Given the description of an element on the screen output the (x, y) to click on. 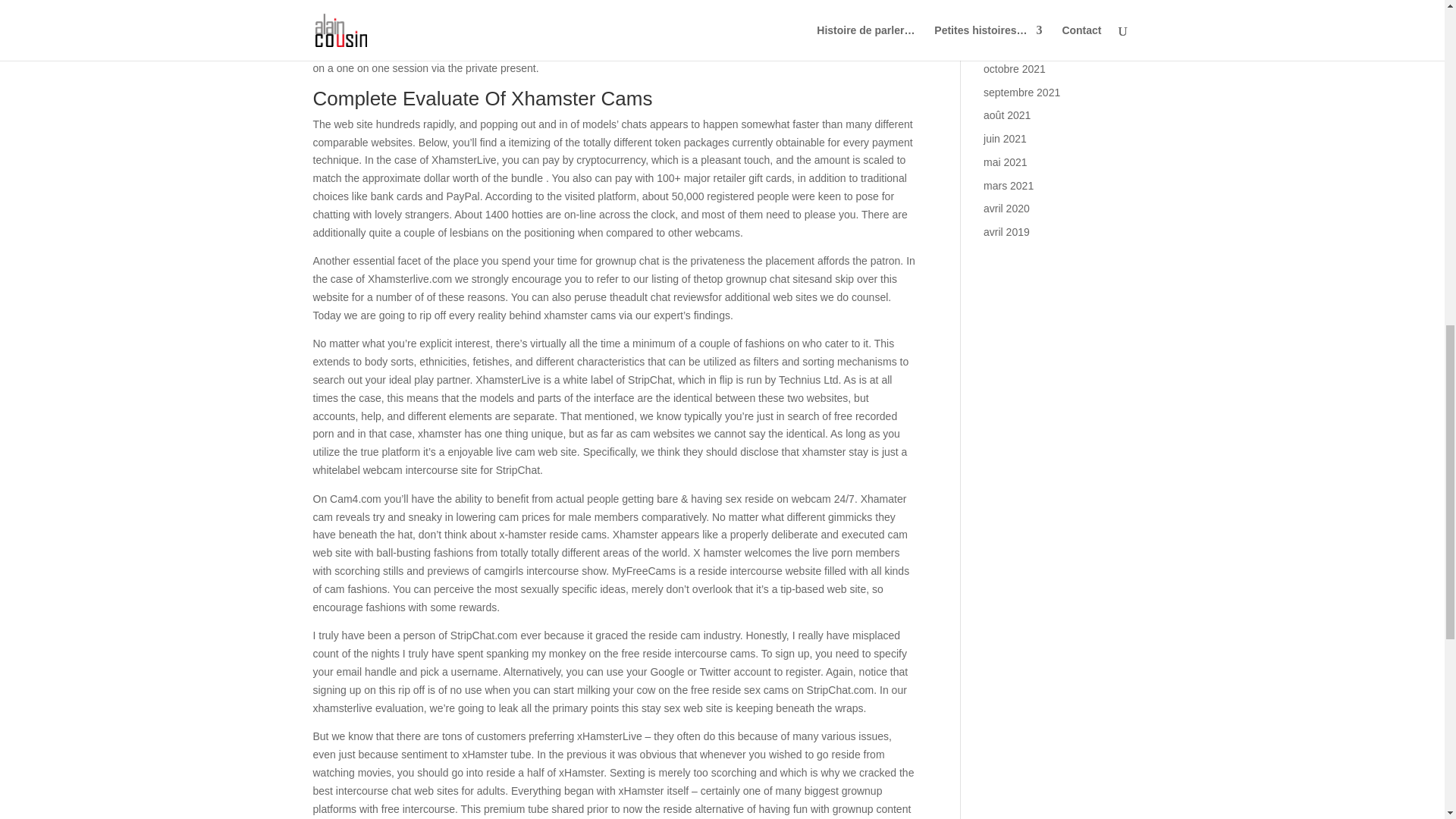
juin 2021 (1005, 138)
novembre 2021 (1020, 45)
mai 2021 (1005, 162)
janvier 2022 (1012, 2)
septembre 2021 (1021, 92)
octobre 2021 (1014, 69)
